Given the description of an element on the screen output the (x, y) to click on. 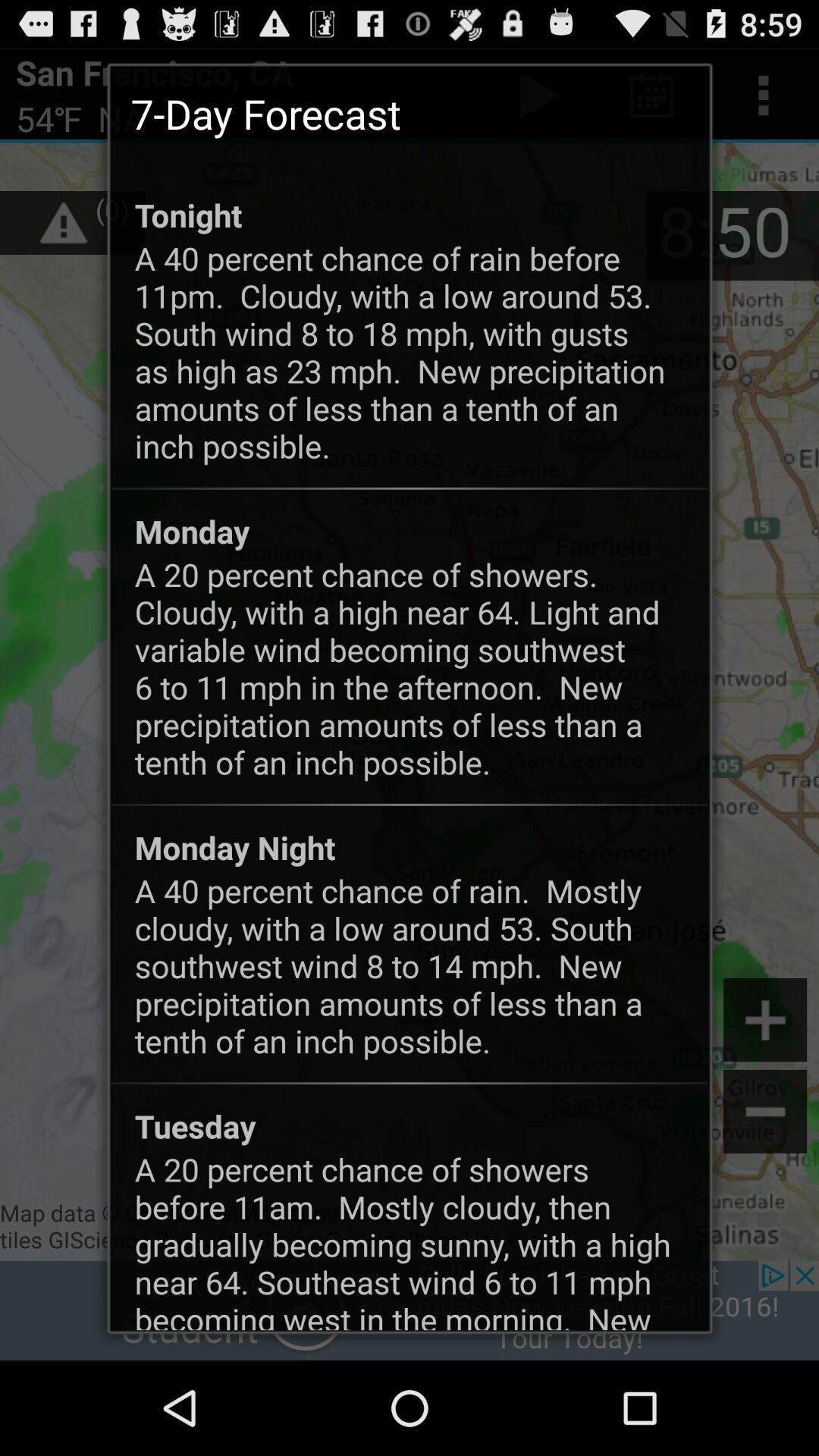
press tuesday (194, 1125)
